Given the description of an element on the screen output the (x, y) to click on. 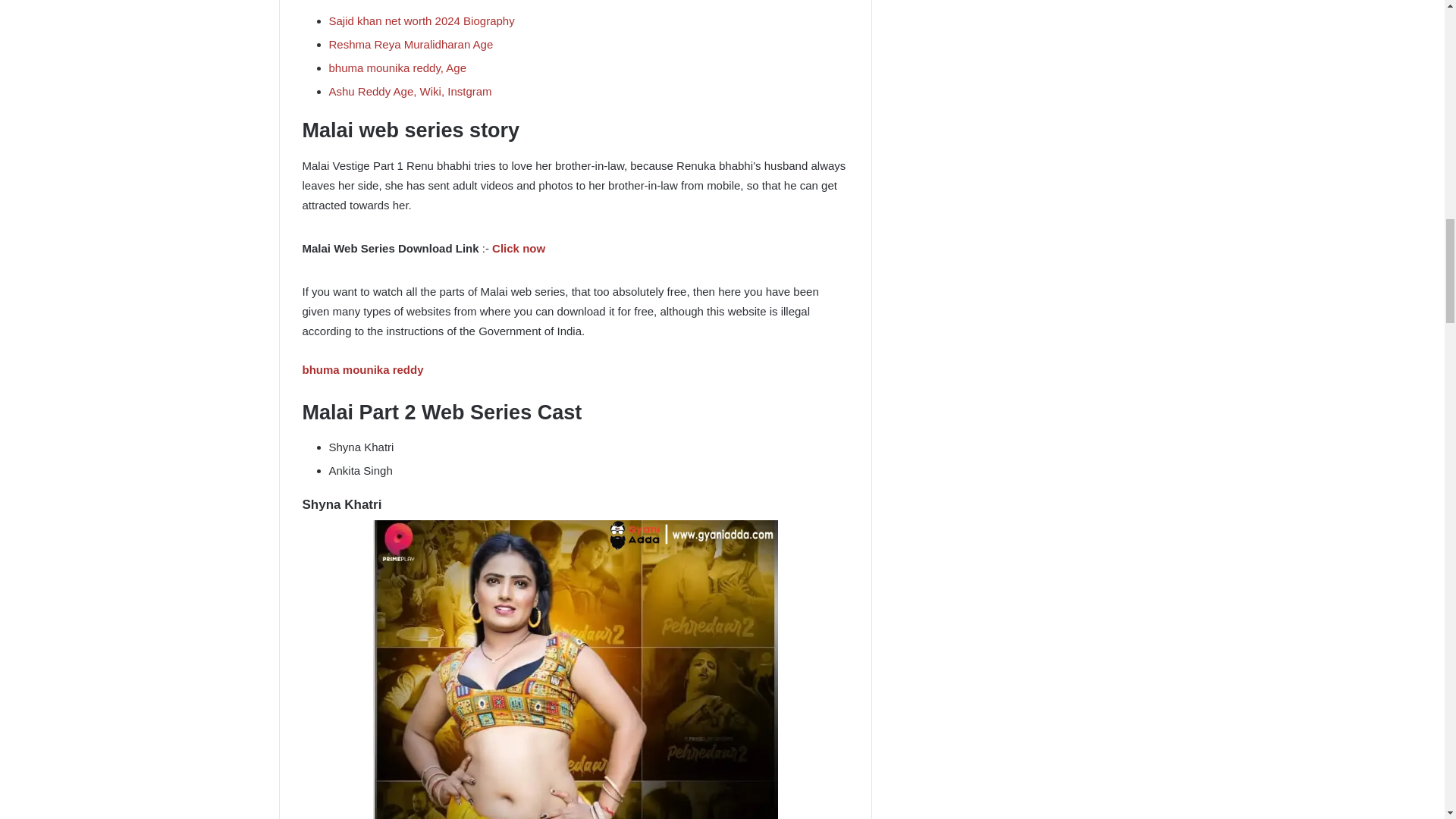
Reshma Reya Muralidharan Age (411, 43)
Sajid khan net worth 2024 Biography (422, 20)
bhuma mounika reddy, Age (398, 67)
Ashu Reddy Age, Wiki, Instgram (410, 91)
bhuma mounika reddy (362, 369)
Click now (518, 247)
